Given the description of an element on the screen output the (x, y) to click on. 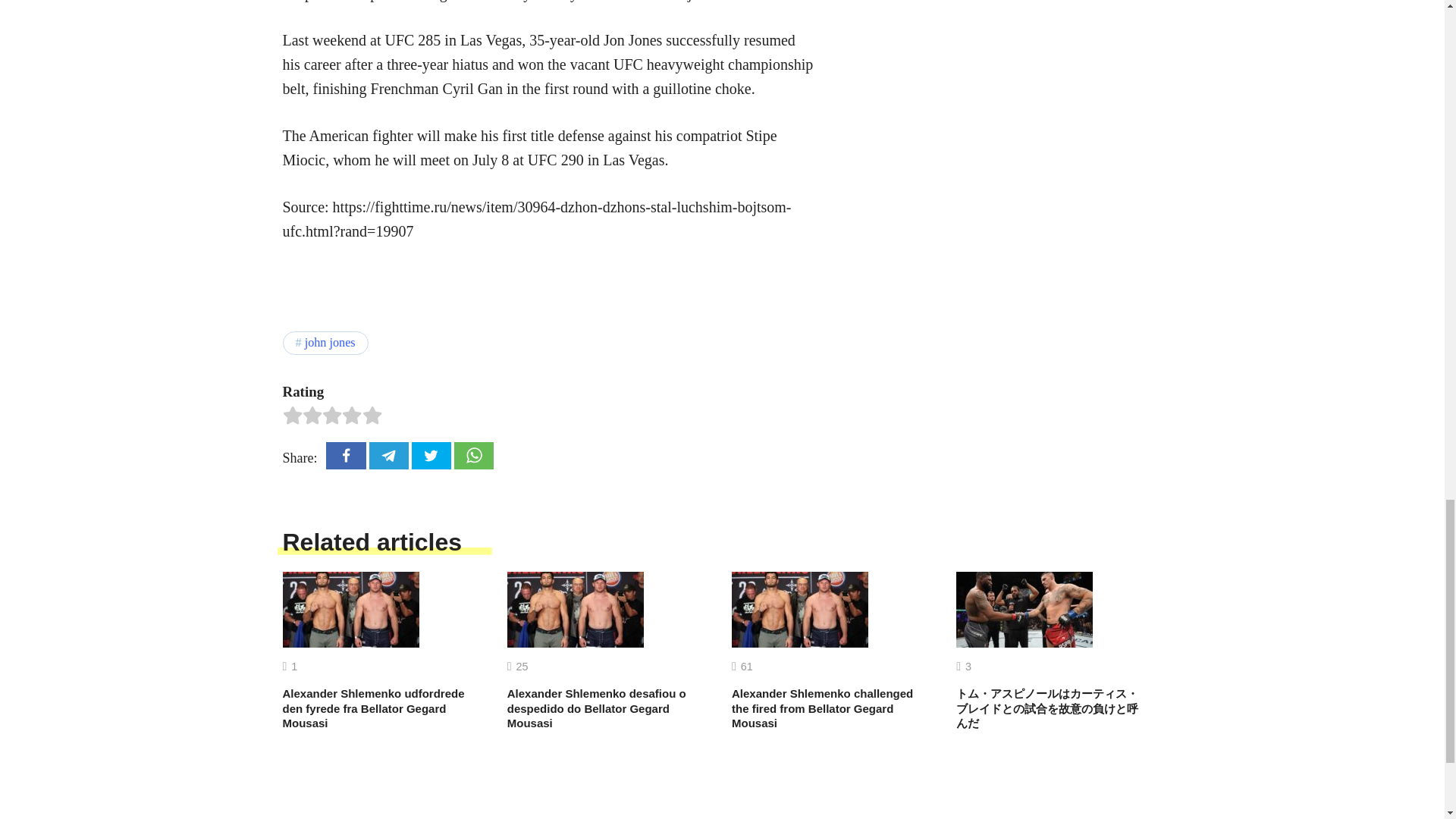
john jones (325, 342)
